Given the description of an element on the screen output the (x, y) to click on. 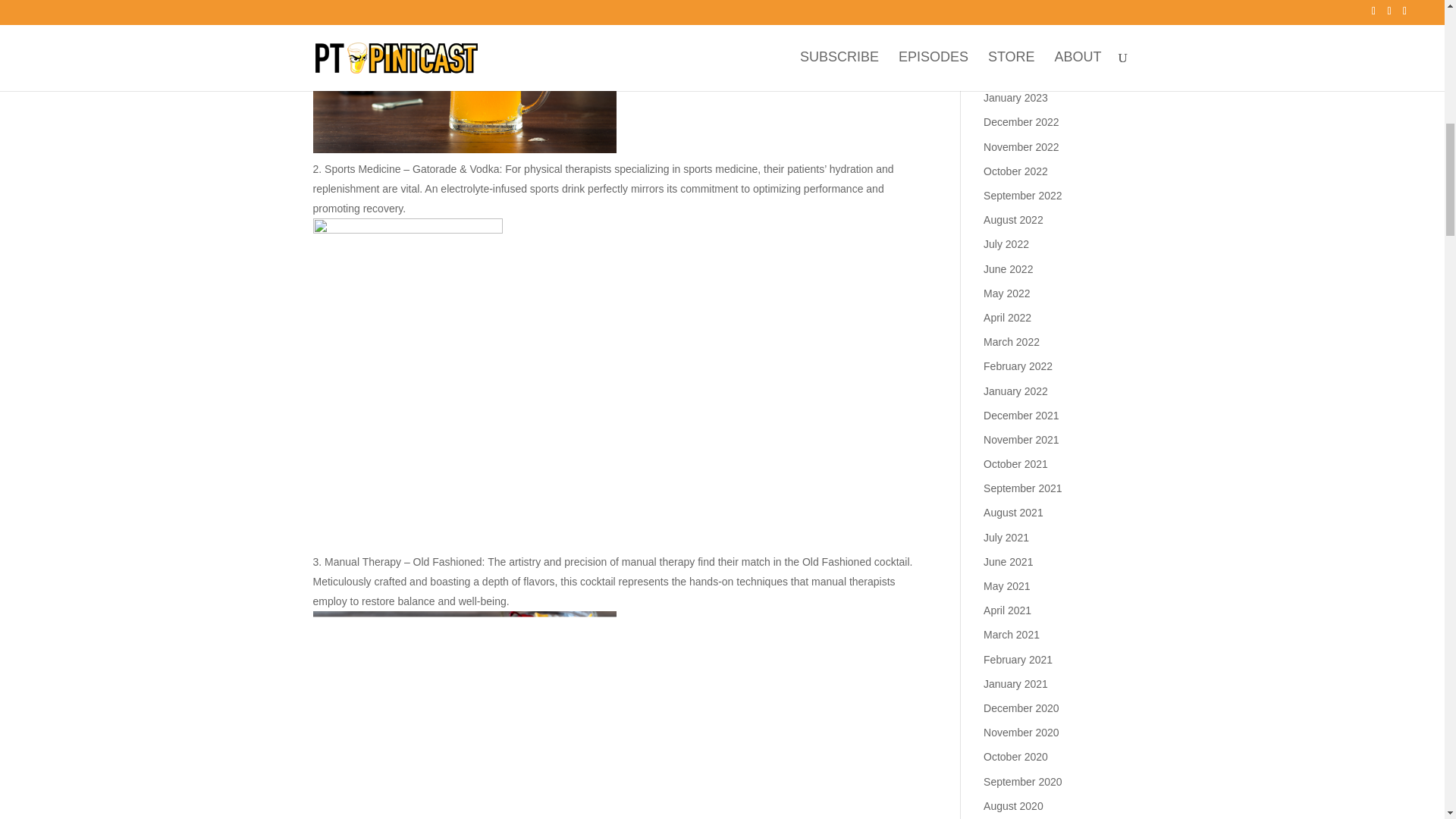
December 2022 (1021, 121)
June 2022 (1008, 268)
October 2022 (1016, 171)
January 2023 (1016, 97)
November 2022 (1021, 146)
May 2023 (1006, 2)
March 2023 (1011, 49)
July 2022 (1006, 244)
February 2023 (1018, 73)
August 2022 (1013, 219)
